Given the description of an element on the screen output the (x, y) to click on. 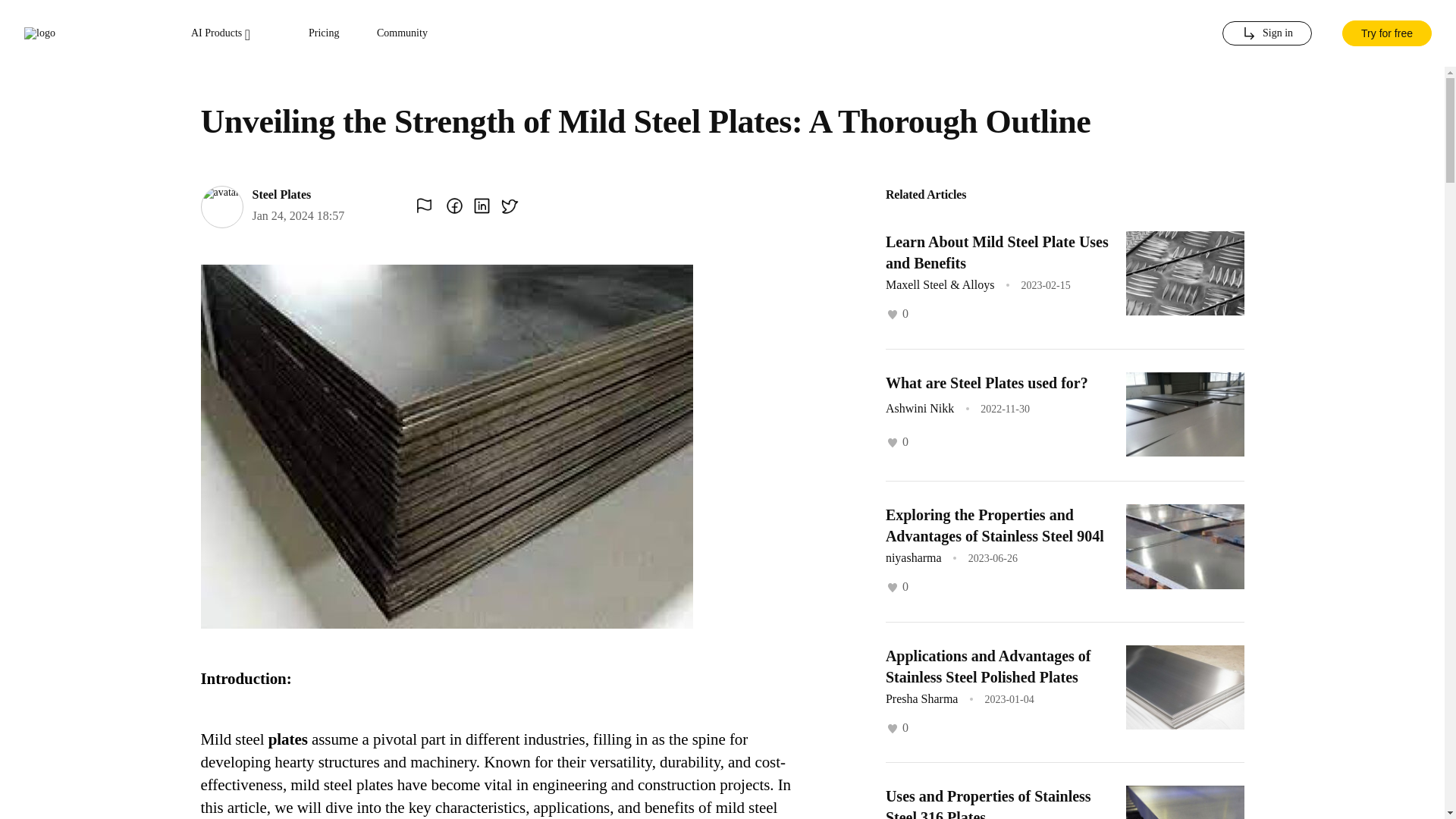
Community (402, 33)
Pricing (323, 33)
Try for free (1386, 32)
What are Steel Plates used for? (986, 382)
 Sign in (1267, 33)
Learn About Mild Steel Plate Uses and Benefits (996, 252)
Uses and Properties of Stainless Steel 316 Plates (987, 803)
